Given the description of an element on the screen output the (x, y) to click on. 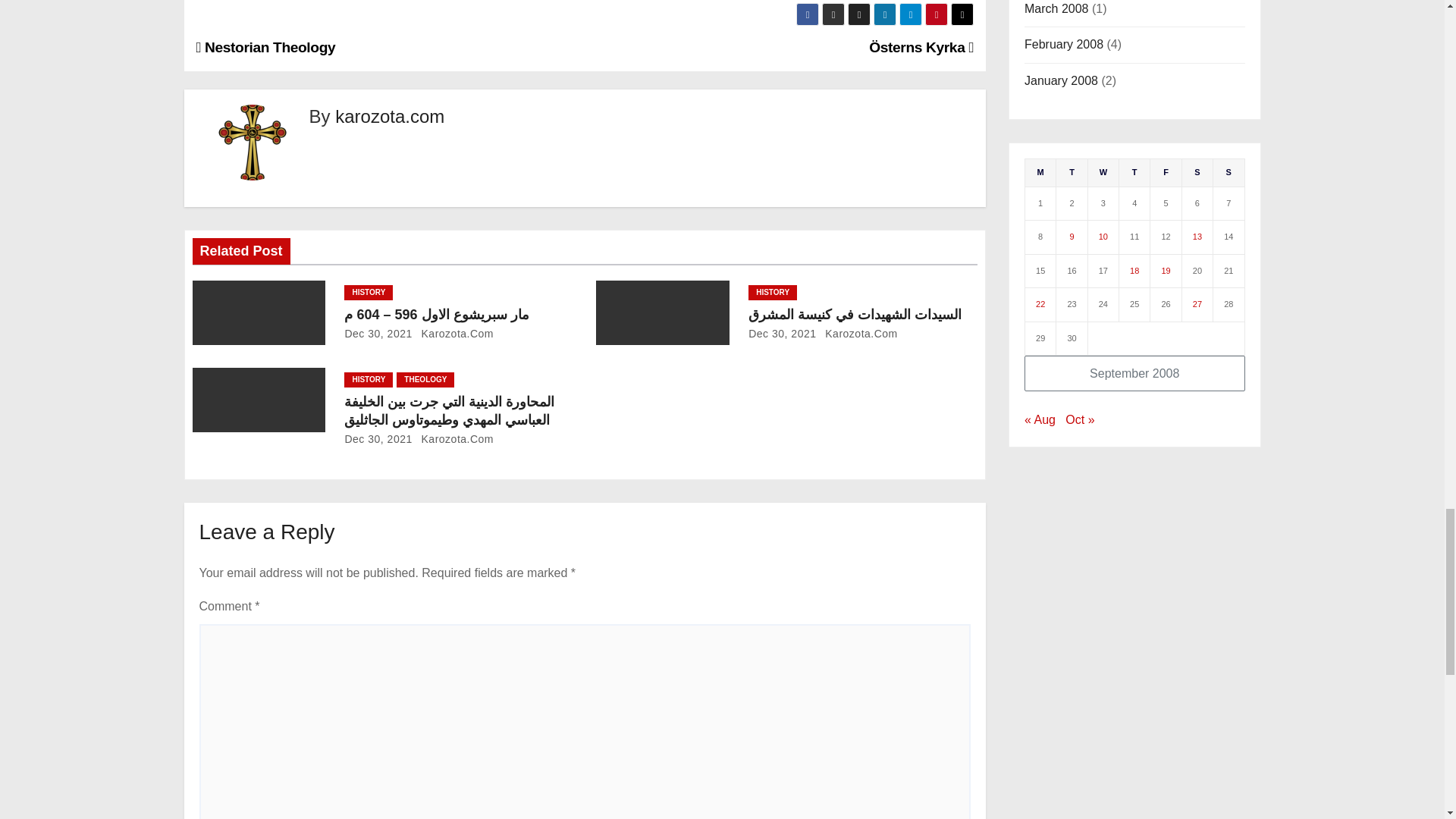
HISTORY (368, 292)
karozota.com (389, 116)
Nestorian Theology (264, 47)
